Given the description of an element on the screen output the (x, y) to click on. 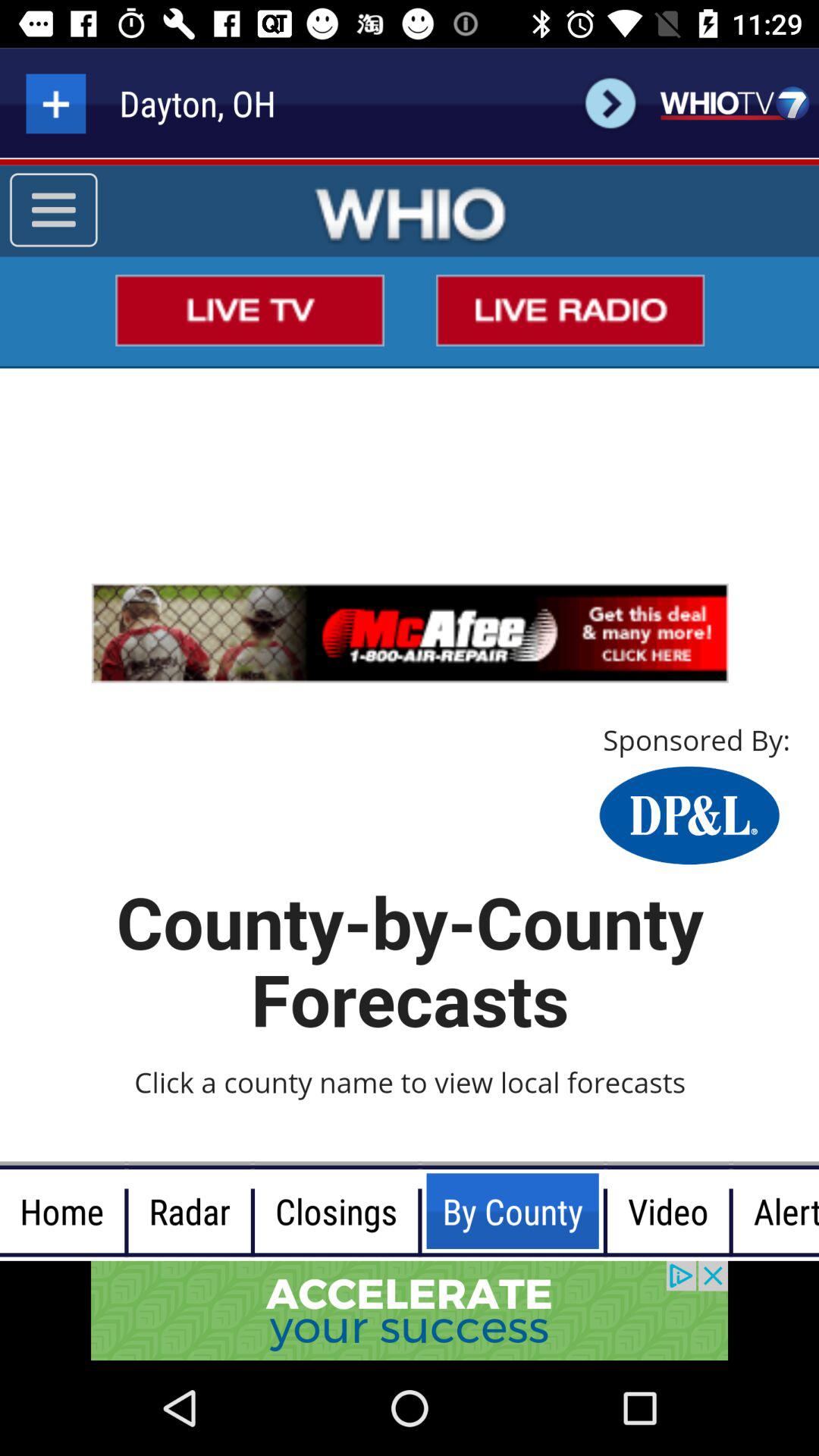
click on the next arrow (610, 103)
click on the button on right of closings (512, 1210)
click on the button in the top right corner (734, 103)
click on radar at the bottom of the web page (189, 1210)
click on the button on right of by county (668, 1210)
click on the button right to the dayton oh (610, 103)
click on the text closings at the bottom of the page (336, 1210)
click on the button by county at the bottom of the page (419, 1210)
